Given the description of an element on the screen output the (x, y) to click on. 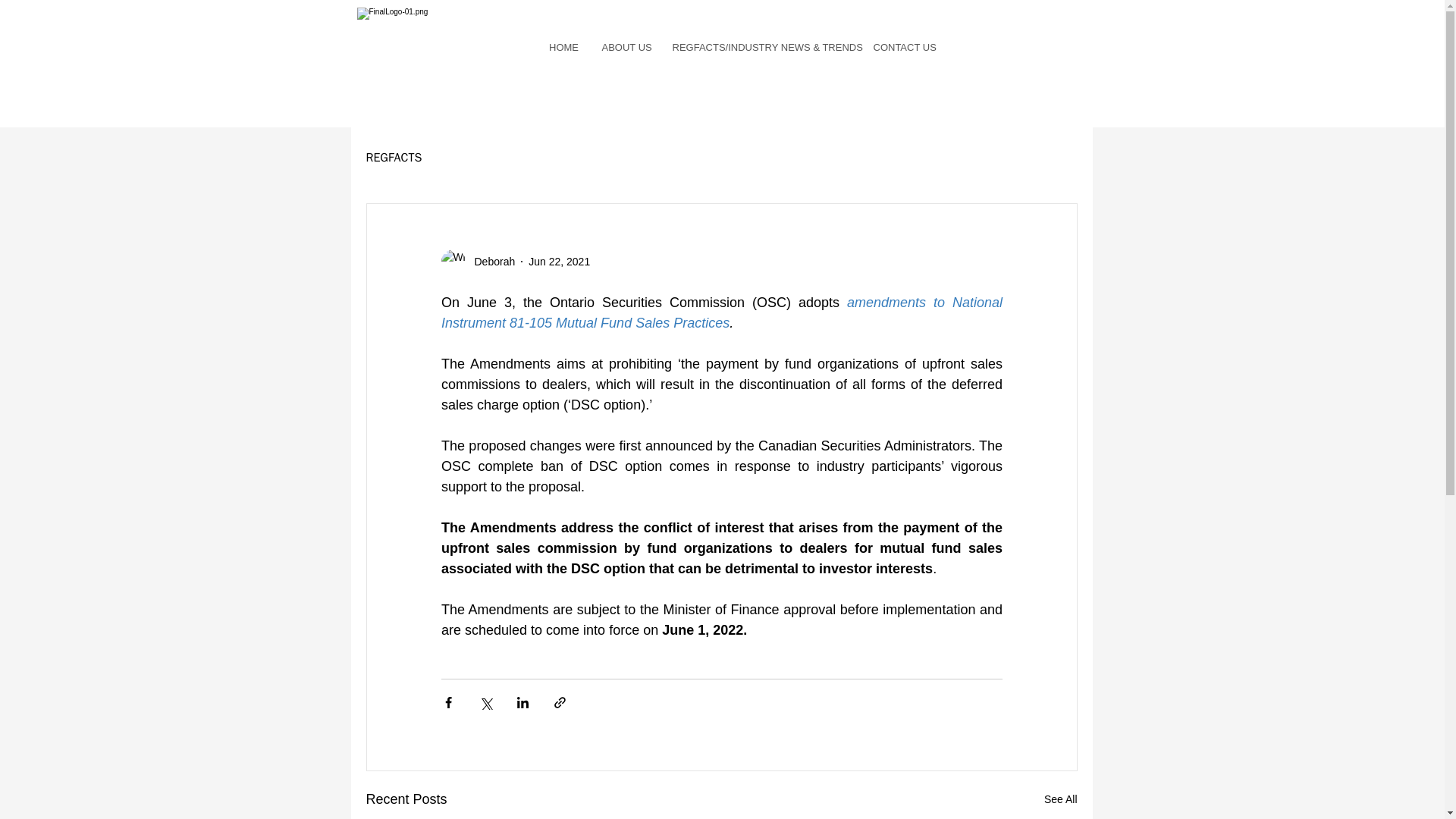
HOME (563, 47)
ABOUT US (625, 47)
Jun 22, 2021 (558, 260)
CONTACT US (902, 47)
See All (1060, 799)
Deborah  (490, 261)
REGFACTS (393, 157)
